Given the description of an element on the screen output the (x, y) to click on. 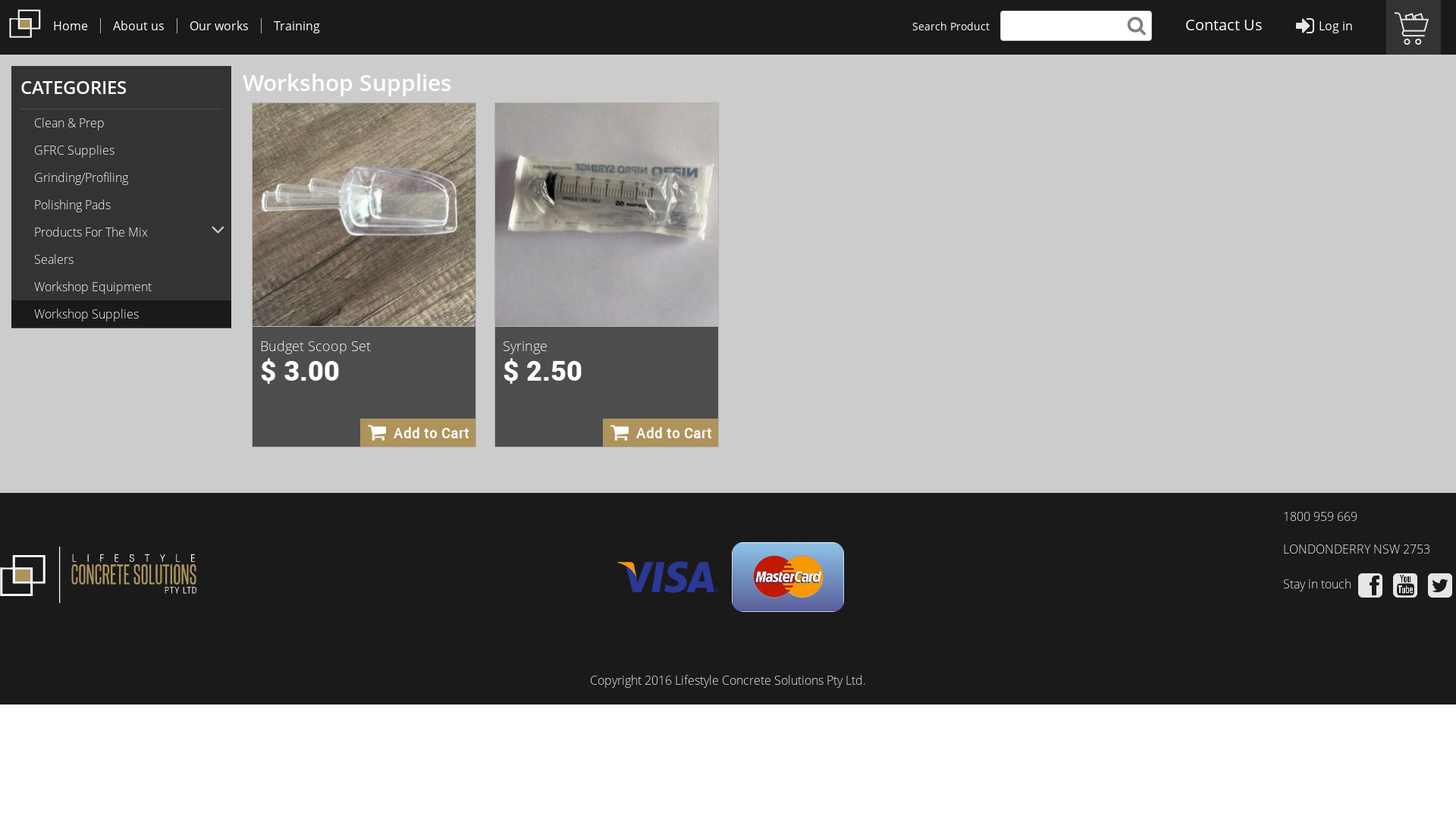
Syringe Element type: text (524, 345)
Budget Scoop Set Element type: text (315, 345)
Our works Element type: text (218, 25)
Contact Us Element type: text (1223, 24)
Polishing Pads Element type: text (121, 204)
Add to Cart Element type: text (417, 432)
Products For The Mix Element type: text (121, 231)
Budget Scoop Set Element type: hover (363, 213)
Add to Cart Element type: text (660, 432)
Workshop Supplies Element type: text (121, 313)
Add to Cart Element type: hover (660, 432)
Log in Element type: text (1335, 25)
Grinding/Profiling Element type: text (121, 177)
Add to Cart Element type: hover (417, 432)
Clean & Prep Element type: text (121, 122)
Training Element type: text (296, 25)
GFRC Supplies Element type: text (121, 149)
Sealers Element type: text (121, 259)
Syringe Element type: hover (606, 213)
Home Element type: text (70, 25)
About us Element type: text (138, 25)
Workshop Equipment Element type: text (121, 286)
